Given the description of an element on the screen output the (x, y) to click on. 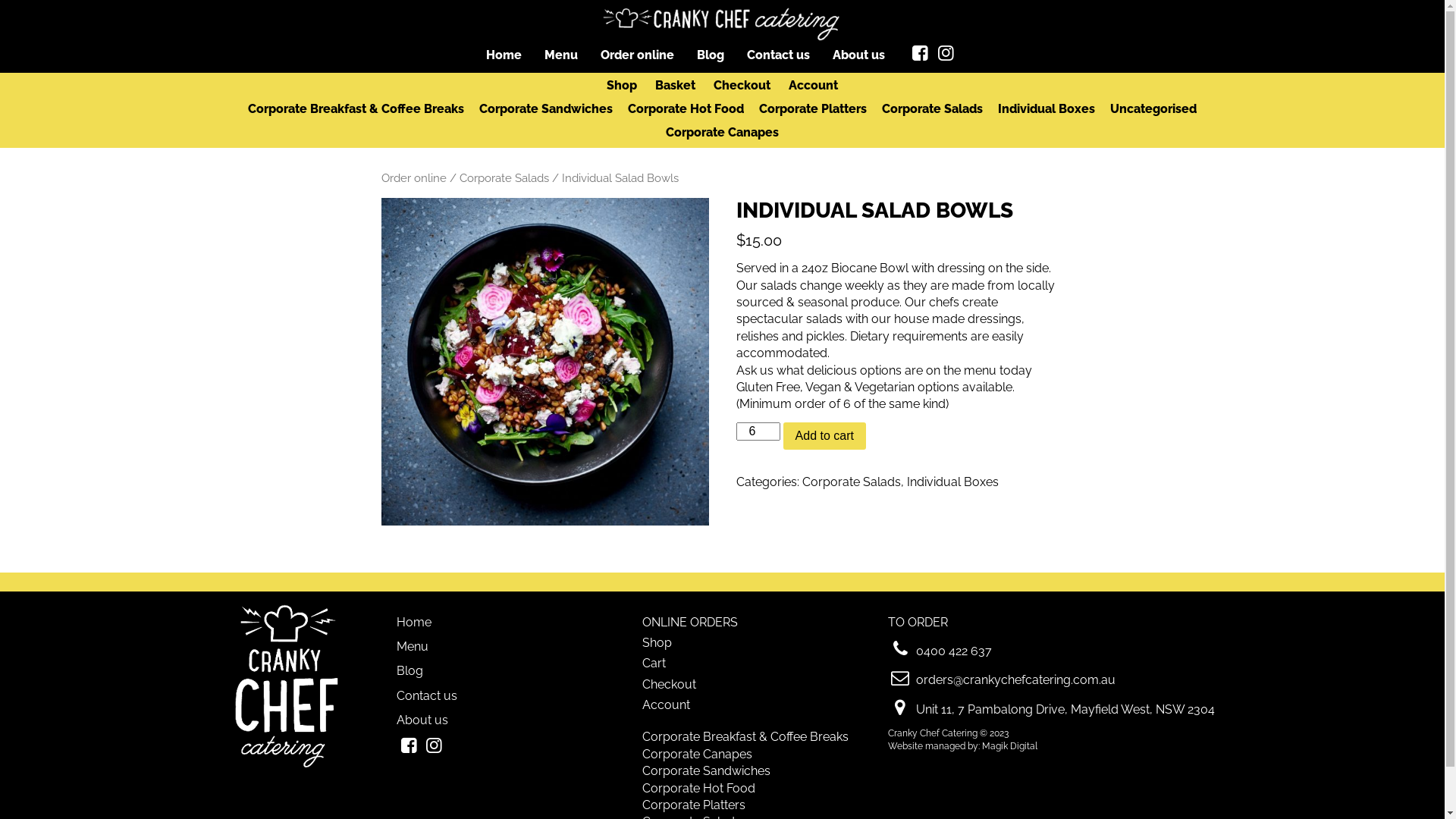
Corporate Platters Element type: text (692, 804)
Basket Element type: text (675, 85)
Blog Element type: text (710, 55)
Contact us Element type: text (425, 695)
Add to cart Element type: text (824, 435)
Cranky Chef Catering Element type: hover (721, 22)
Home Element type: text (503, 55)
Facebook Element type: hover (408, 747)
About us Element type: text (421, 719)
Uncategorised Element type: text (1153, 108)
Menu Element type: text (411, 646)
Corporate Breakfast & Coffee Breaks Element type: text (744, 736)
Corporate Platters Element type: text (812, 108)
Corporate Salads Element type: text (851, 481)
Checkout Element type: text (668, 684)
Account Element type: text (812, 85)
Individual Boxes Element type: text (952, 481)
Order online Element type: text (637, 55)
Checkout Element type: text (741, 85)
Corporate Hot Food Element type: text (685, 108)
Corporate Salads Element type: text (504, 177)
Corporate Sandwiches Element type: text (705, 770)
Individual Boxes Element type: text (1046, 108)
Blog Element type: text (408, 670)
orders@crankychefcatering.com.au Element type: text (1015, 679)
Website managed by: Magik Digital Element type: text (961, 745)
Corporate Canapes Element type: text (721, 132)
Cranky Chef Catering Element type: hover (285, 766)
Menu Element type: text (560, 55)
Home Element type: text (412, 622)
Shop Element type: text (656, 642)
Account Element type: text (665, 704)
Corporate Breakfast & Coffee Breaks Element type: text (355, 108)
Shop Element type: text (621, 85)
Corporate Sandwiches Element type: text (545, 108)
Corporate Hot Food Element type: text (697, 788)
Order online Element type: text (412, 177)
Instagram Element type: hover (434, 747)
Corporate Canapes Element type: text (696, 753)
Cart Element type: text (653, 662)
Contact us Element type: text (777, 55)
Corporate Salads Element type: text (931, 108)
Instagram Element type: hover (945, 53)
About us Element type: text (858, 55)
Facebook Element type: hover (920, 53)
